Given the description of an element on the screen output the (x, y) to click on. 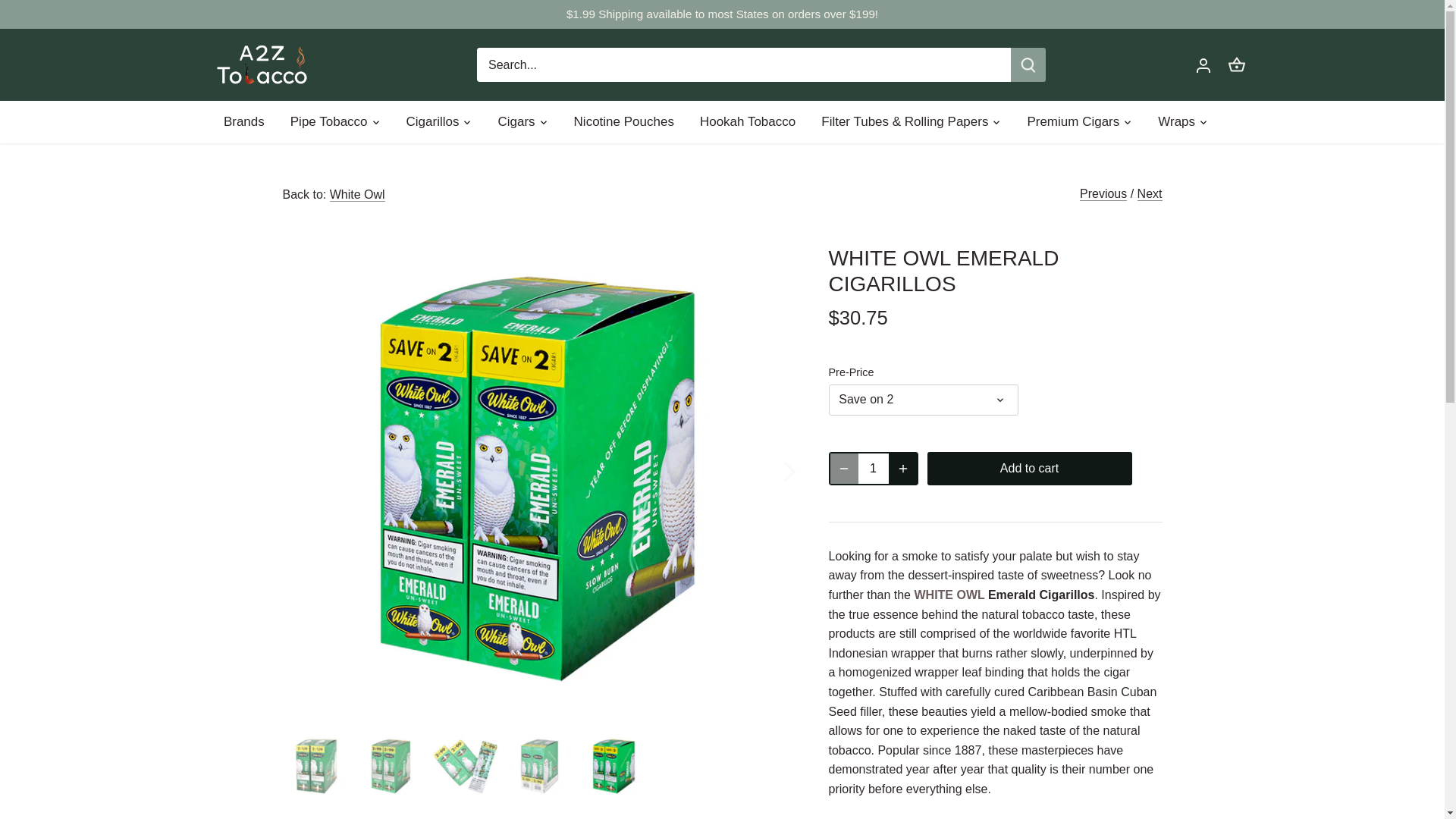
Brands (251, 121)
1 (873, 468)
Cigarillos (432, 121)
Pipe Tobacco (329, 121)
White Owl (357, 194)
